Given the description of an element on the screen output the (x, y) to click on. 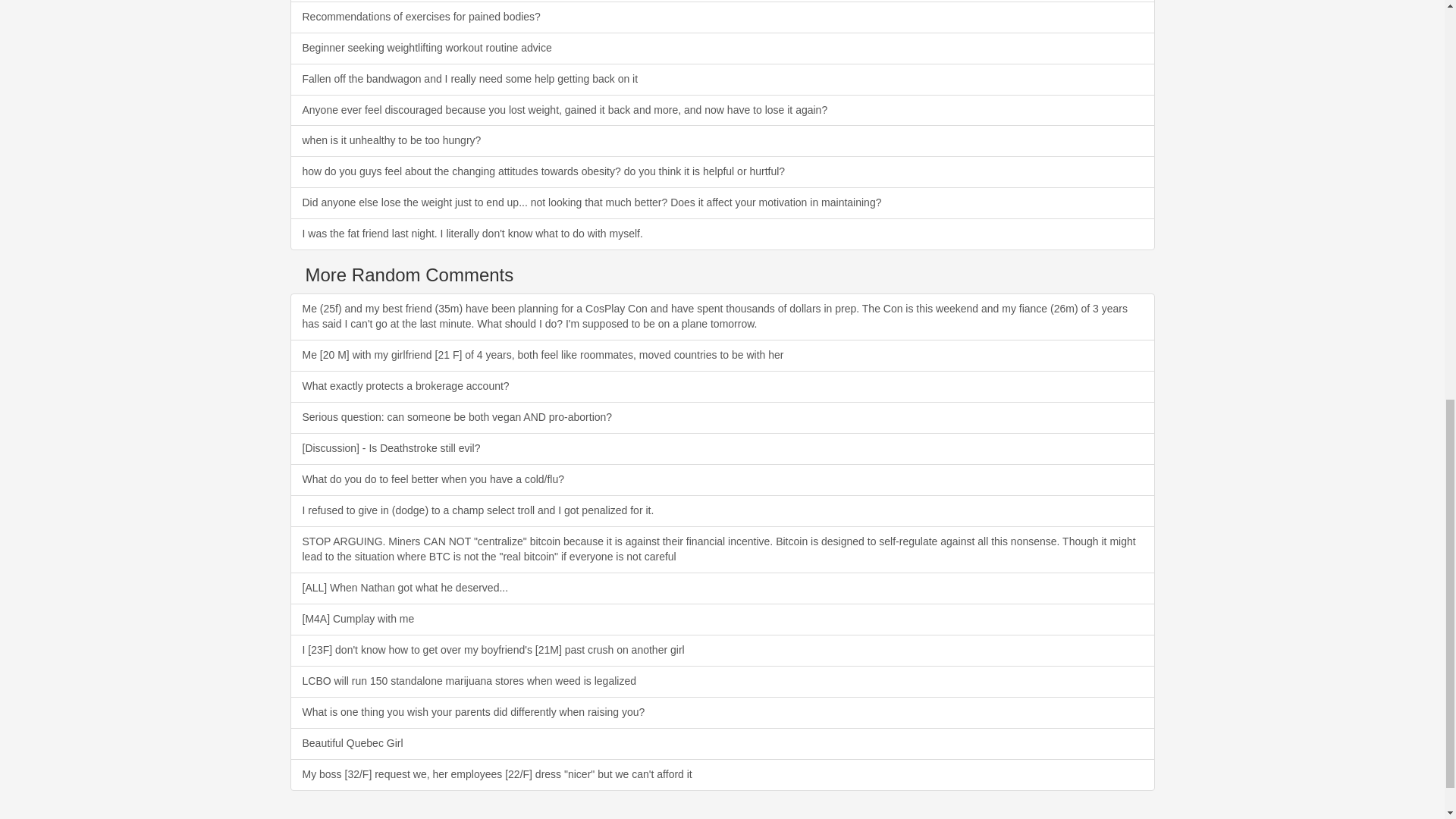
Beginner seeking weightlifting workout routine advice (721, 48)
What exactly protects a brokerage account? (721, 386)
Recommendations of exercises for pained bodies? (721, 17)
